Given the description of an element on the screen output the (x, y) to click on. 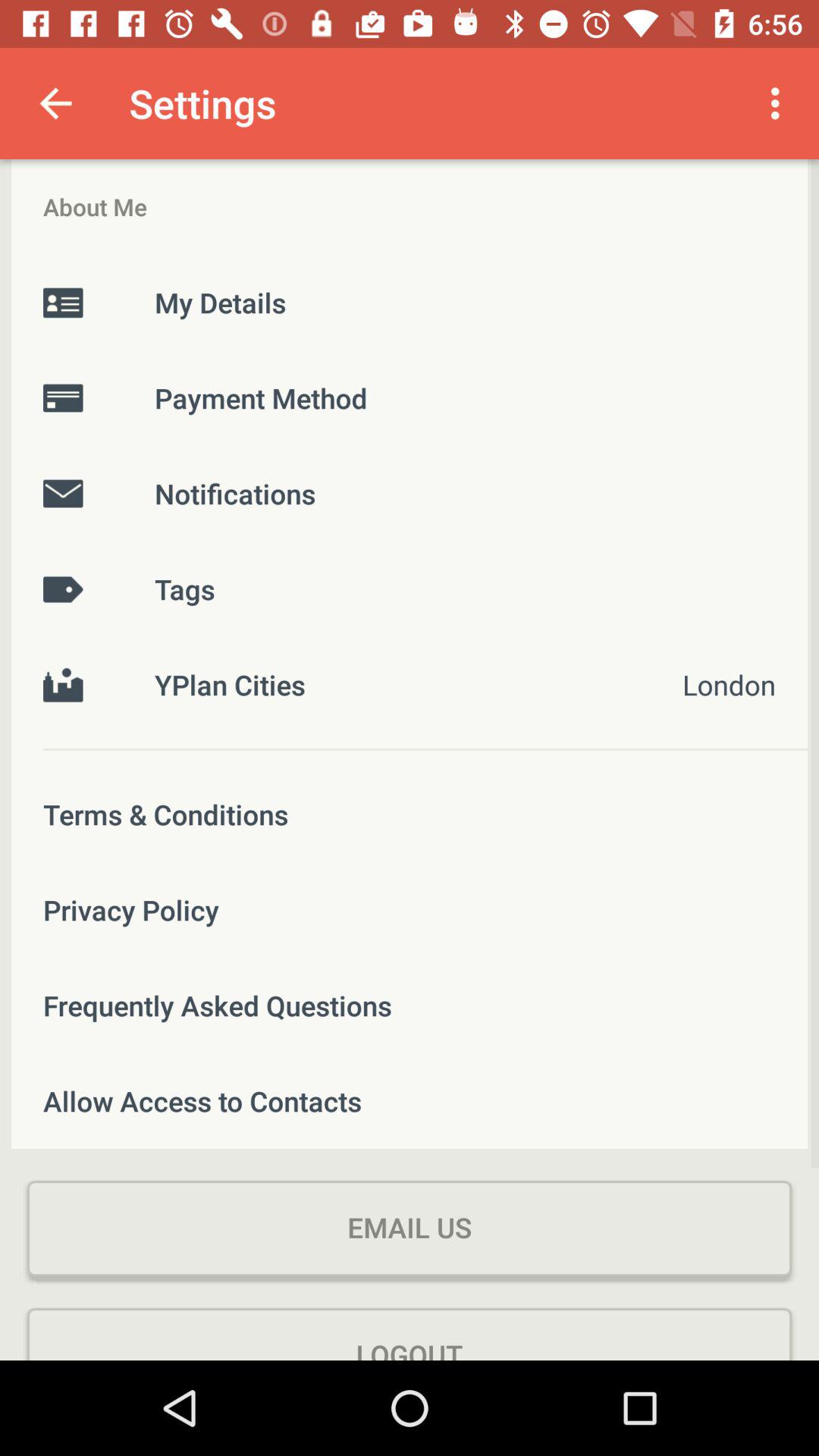
turn on the app to the right of the  settings item (779, 103)
